Given the description of an element on the screen output the (x, y) to click on. 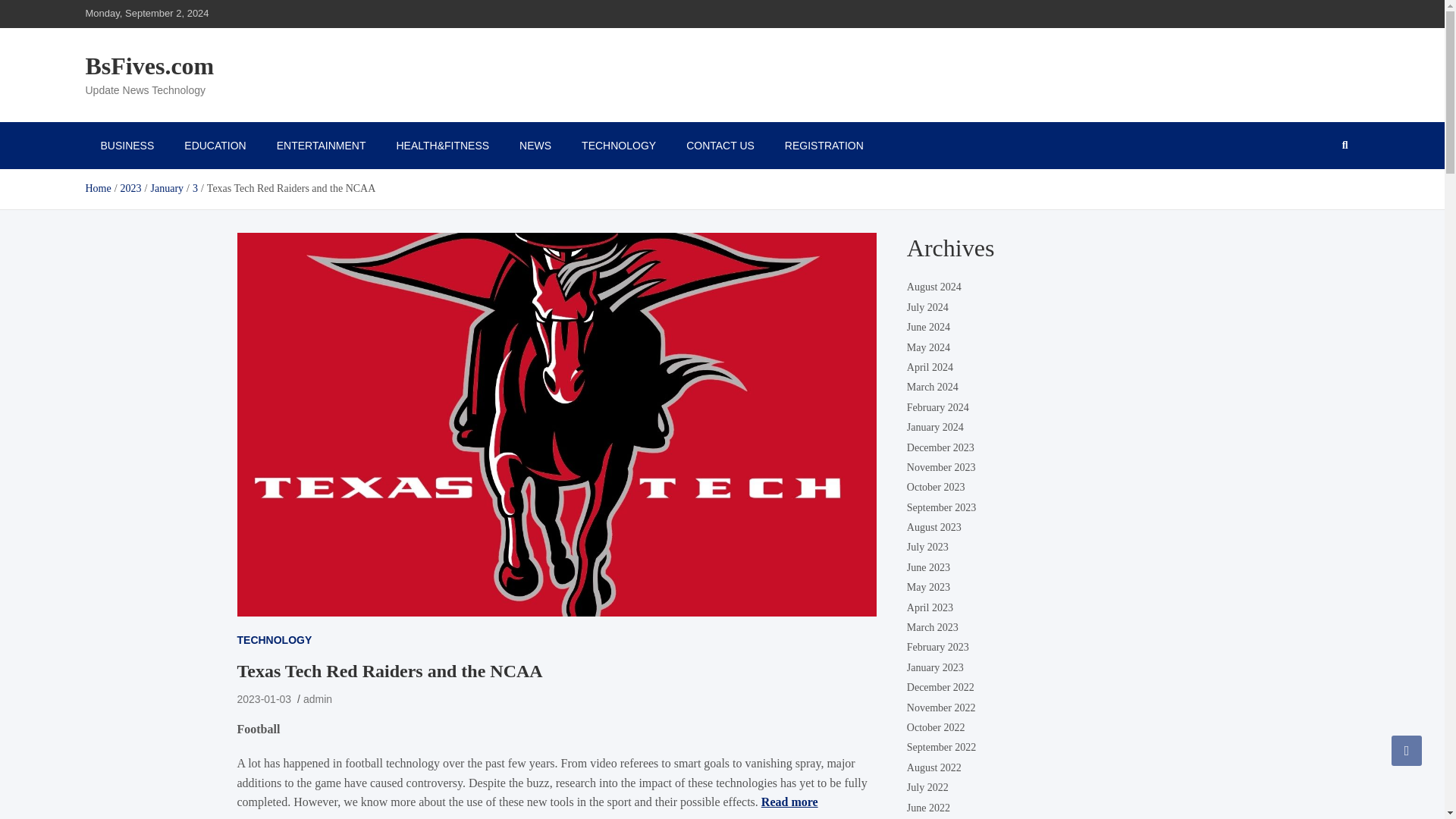
November 2023 (941, 467)
2023-01-03 (263, 698)
July 2023 (928, 546)
September 2023 (941, 506)
June 2024 (928, 326)
admin (316, 698)
EDUCATION (214, 145)
December 2023 (940, 446)
January (166, 188)
TECHNOLOGY (273, 639)
